Given the description of an element on the screen output the (x, y) to click on. 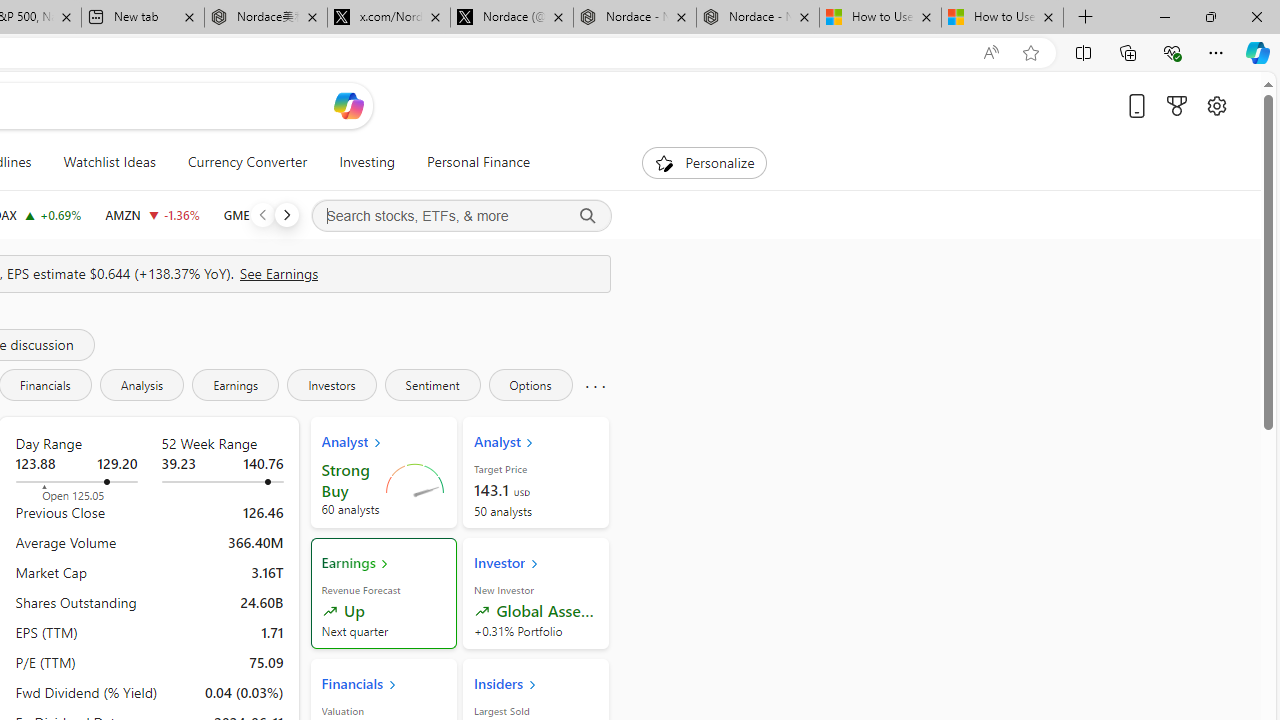
Search stocks, ETFs, & more (461, 215)
Options (530, 384)
To get missing image descriptions, open the context menu. (664, 162)
Analysis (141, 384)
Personal Finance (478, 162)
x.com/NordaceOfficial (388, 17)
AMZN AMAZON.COM, INC. decrease 173.12 -2.38 -1.36% (152, 214)
